Given the description of an element on the screen output the (x, y) to click on. 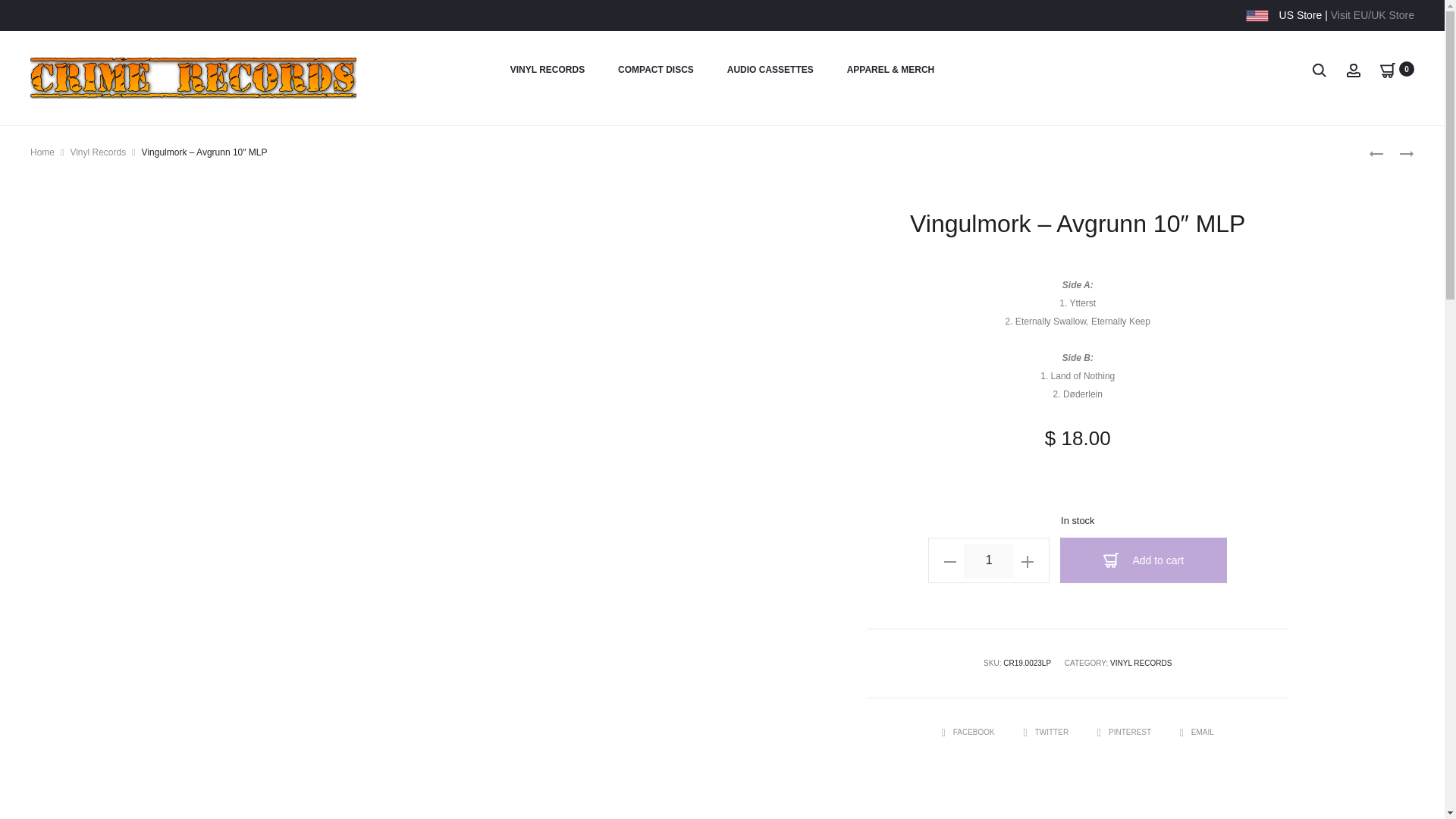
FACEBOOK (969, 732)
PINTEREST (1125, 732)
Vinyl Records (97, 152)
0 (1387, 69)
Home (42, 152)
COMPACT DISCS (655, 70)
TWITTER (1046, 732)
VINYL RECORDS (1140, 663)
1 (988, 560)
AUDIO CASSETTES (769, 70)
EMAIL (1196, 732)
VINYL RECORDS (548, 70)
Add to cart (1143, 560)
Qty (988, 560)
